Given the description of an element on the screen output the (x, y) to click on. 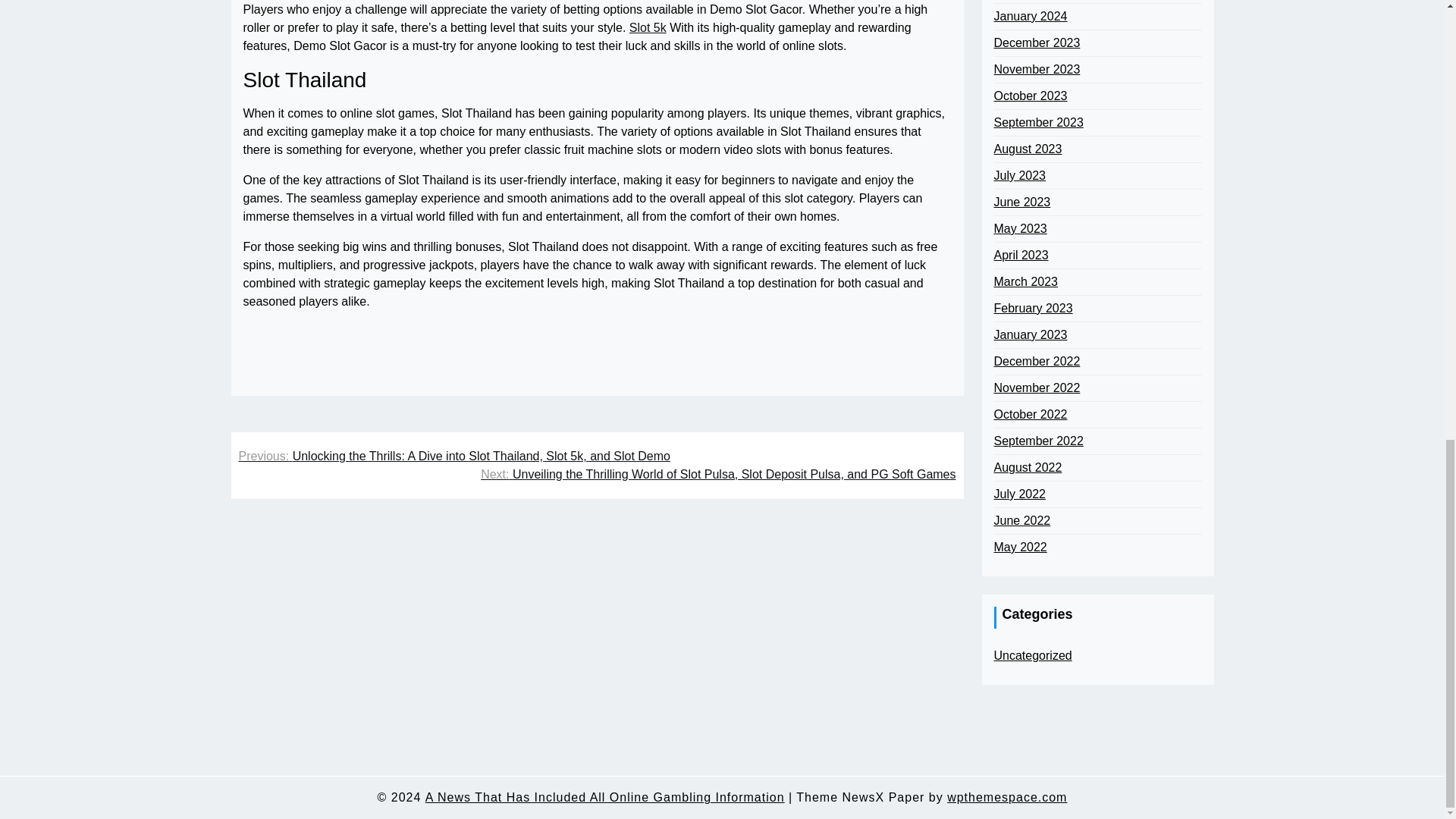
June 2023 (1020, 202)
January 2024 (1029, 16)
Slot 5k (647, 27)
December 2023 (1036, 43)
August 2023 (1026, 149)
May 2023 (1019, 229)
February 2023 (1031, 308)
January 2023 (1029, 334)
April 2023 (1020, 255)
March 2023 (1025, 281)
September 2023 (1037, 122)
October 2023 (1029, 95)
November 2023 (1036, 69)
July 2023 (1018, 176)
